Given the description of an element on the screen output the (x, y) to click on. 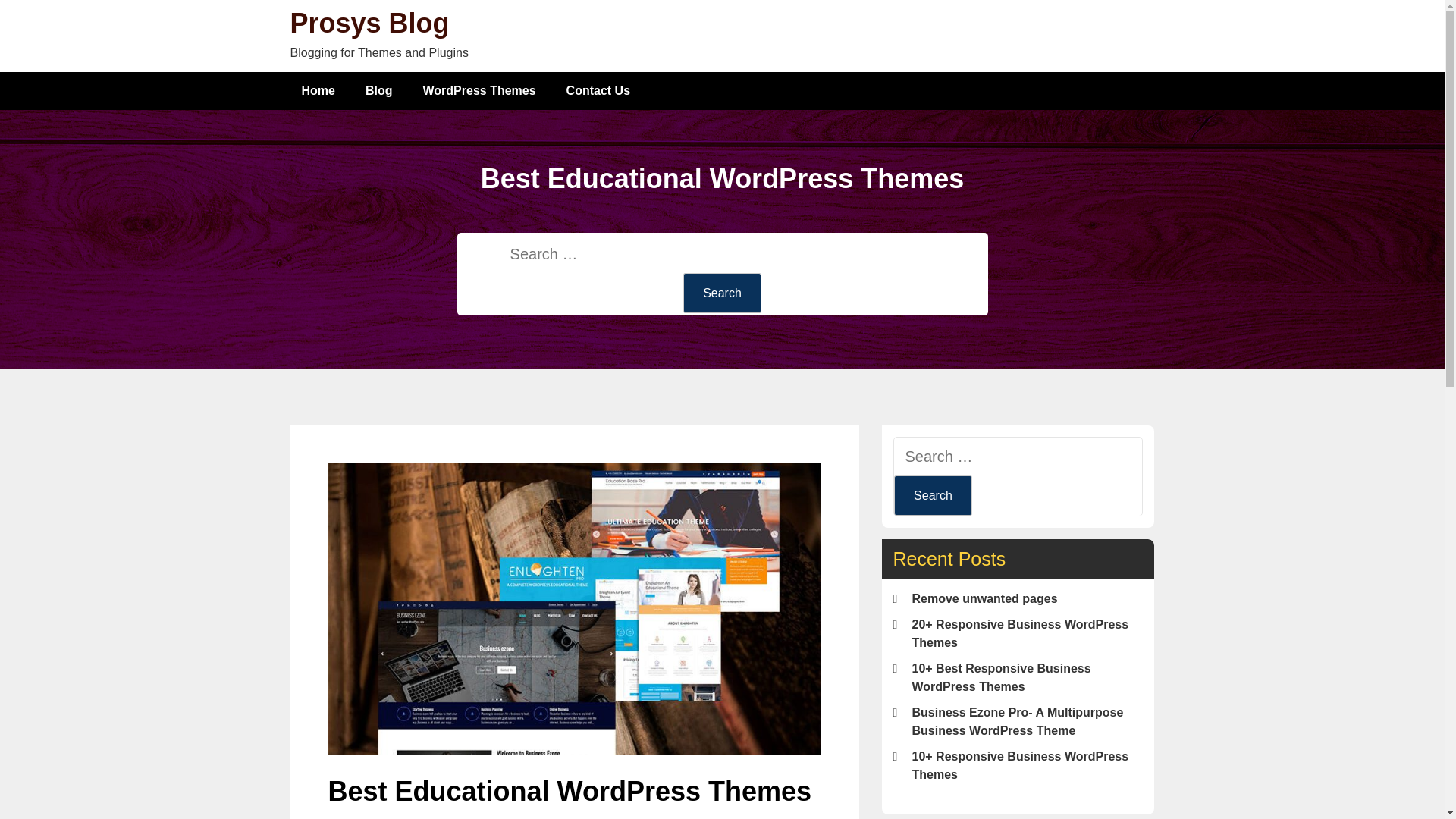
Search (721, 292)
Search (932, 495)
Prosys Blog (368, 22)
Business Ezone Pro- A Multipurpose Business WordPress Theme (1016, 721)
Contact Us (598, 90)
WordPress Themes (478, 90)
Search (721, 292)
Home (317, 90)
Search (932, 495)
Remove unwanted pages (984, 598)
